Given the description of an element on the screen output the (x, y) to click on. 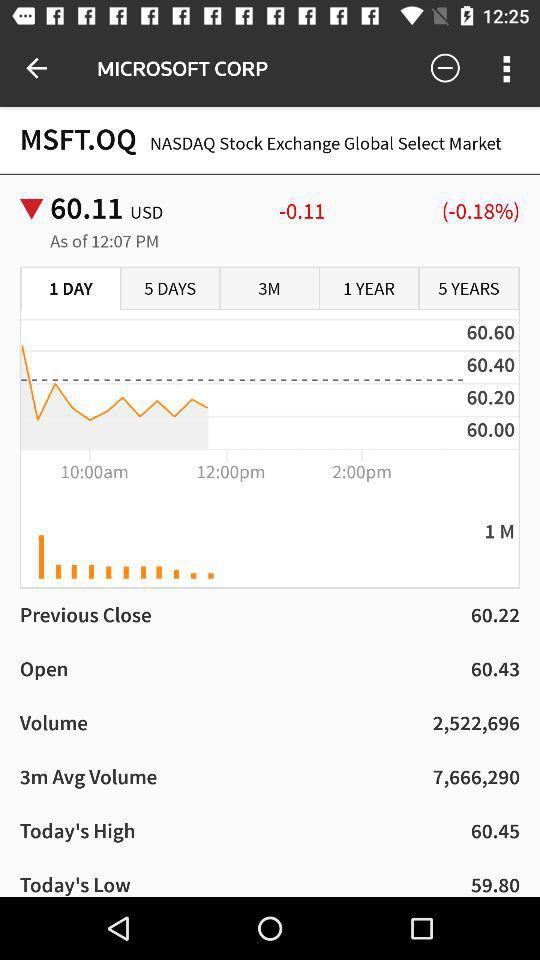
press the item below the as of 12 (170, 289)
